Given the description of an element on the screen output the (x, y) to click on. 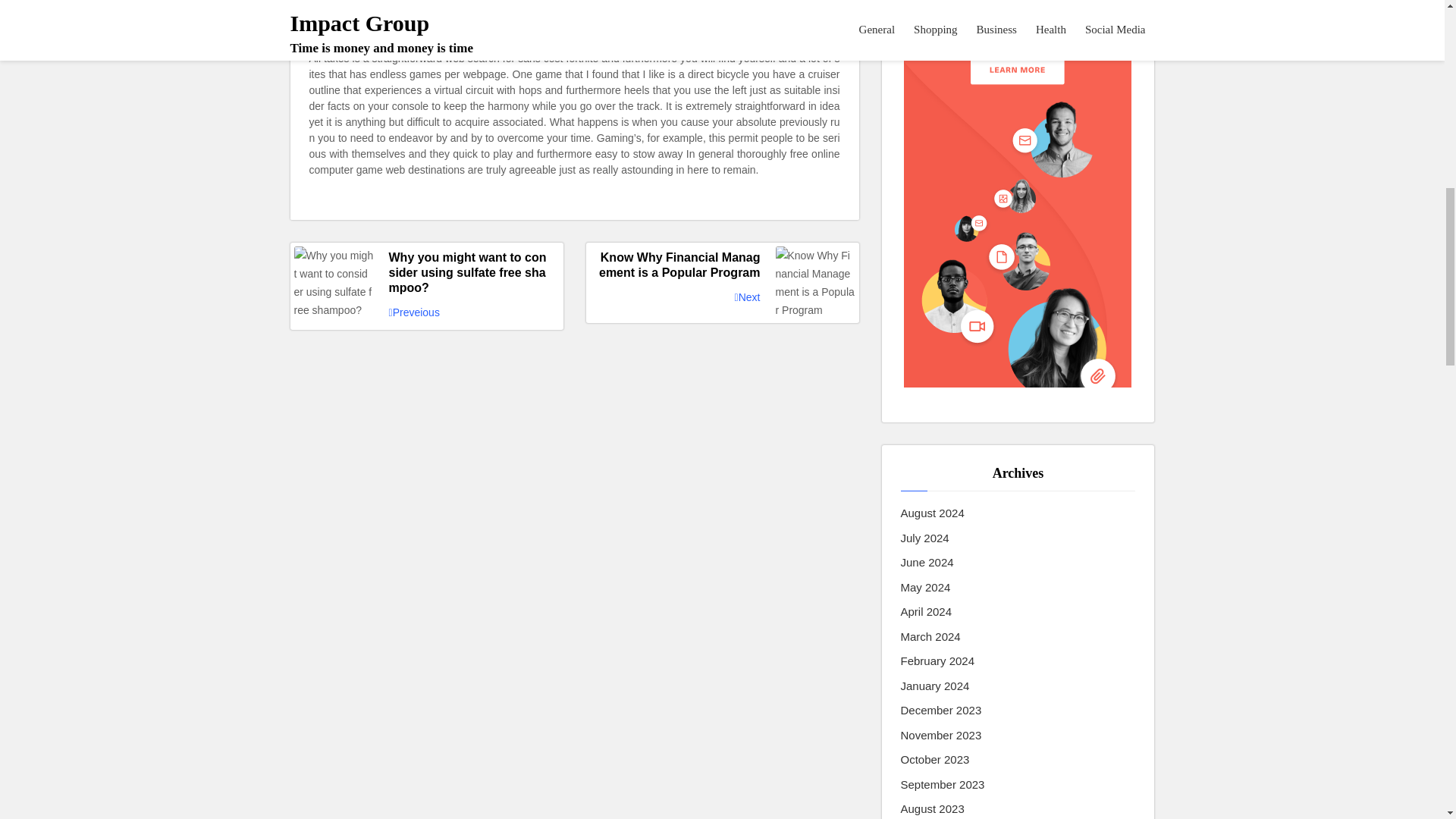
October 2023 (935, 760)
May 2024 (925, 588)
November 2023 (941, 735)
August 2023 (932, 809)
March 2024 (930, 637)
July 2024 (925, 538)
June 2024 (927, 562)
February 2024 (938, 661)
April 2024 (926, 611)
Why you might want to consider using sulfate free shampoo? (426, 272)
